Given the description of an element on the screen output the (x, y) to click on. 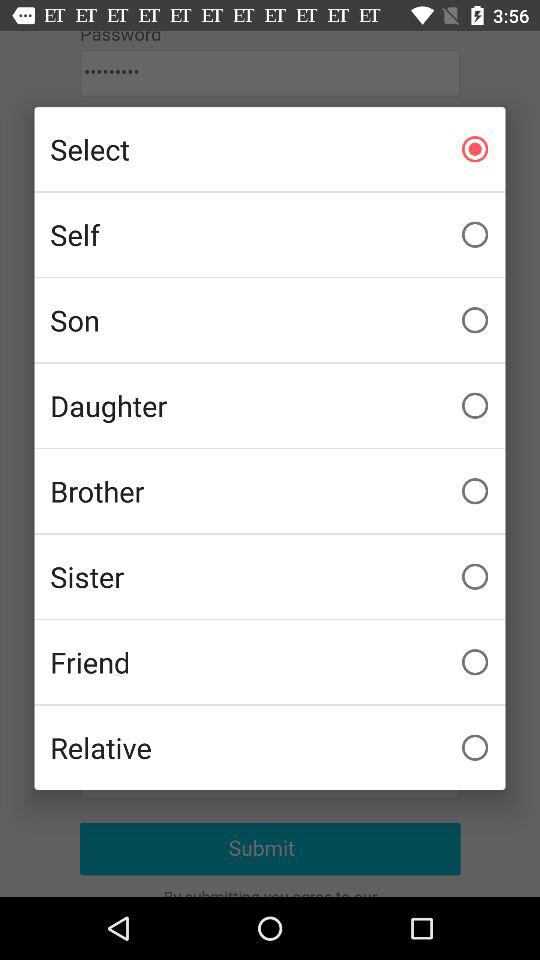
turn off icon below the brother item (269, 576)
